Given the description of an element on the screen output the (x, y) to click on. 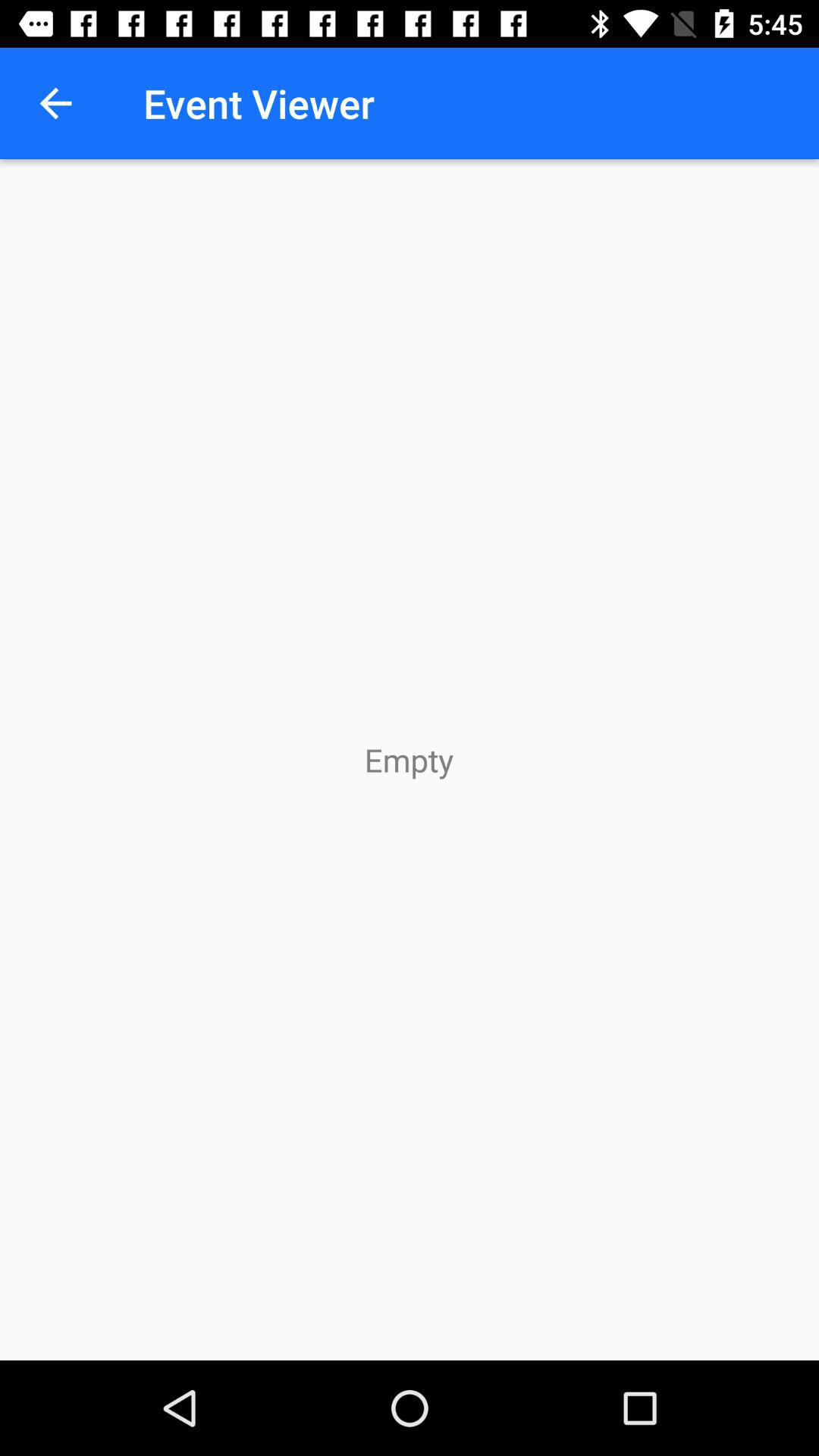
launch the item next to the event viewer icon (55, 103)
